Given the description of an element on the screen output the (x, y) to click on. 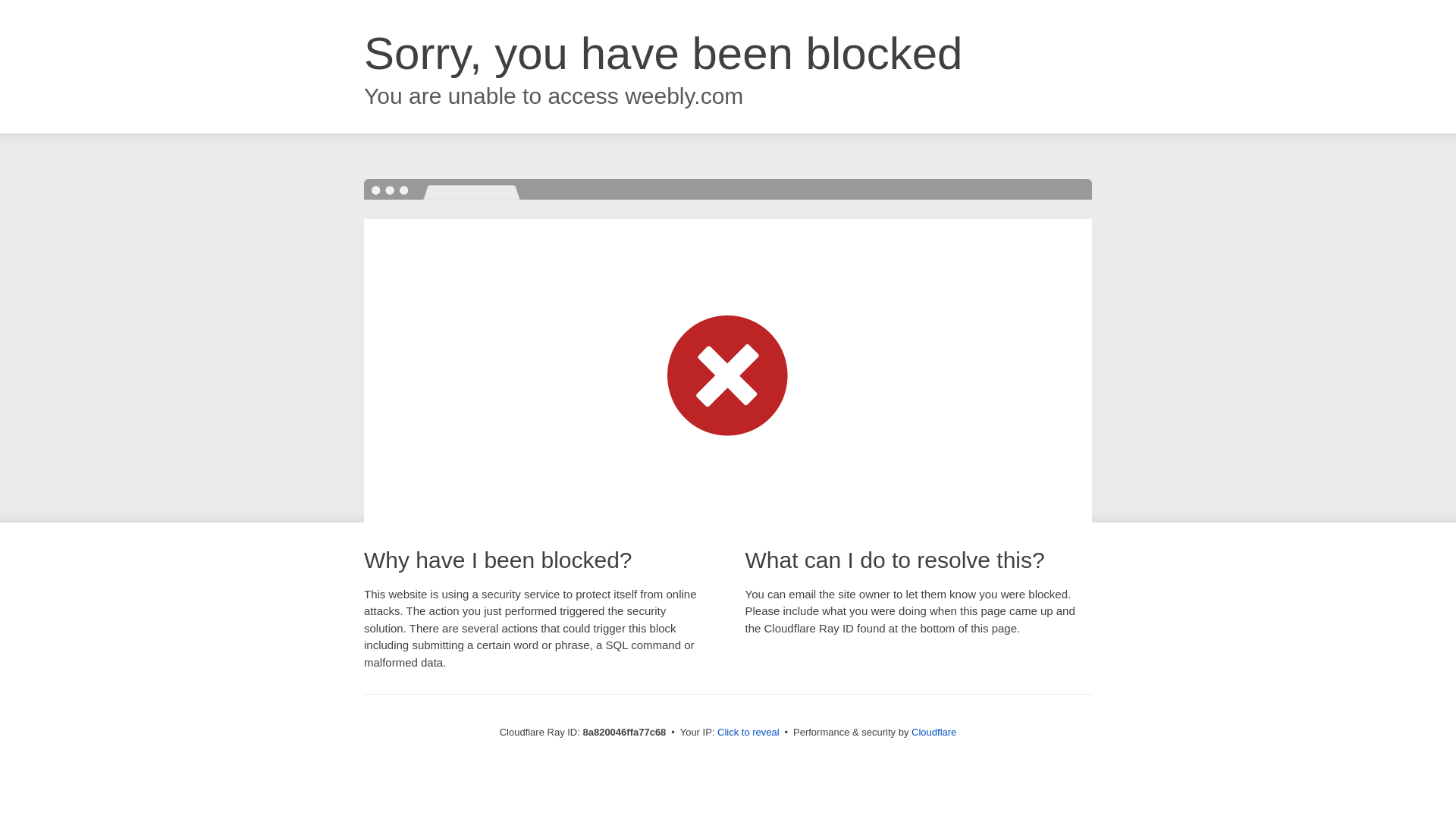
Cloudflare (933, 731)
Click to reveal (747, 732)
